Given the description of an element on the screen output the (x, y) to click on. 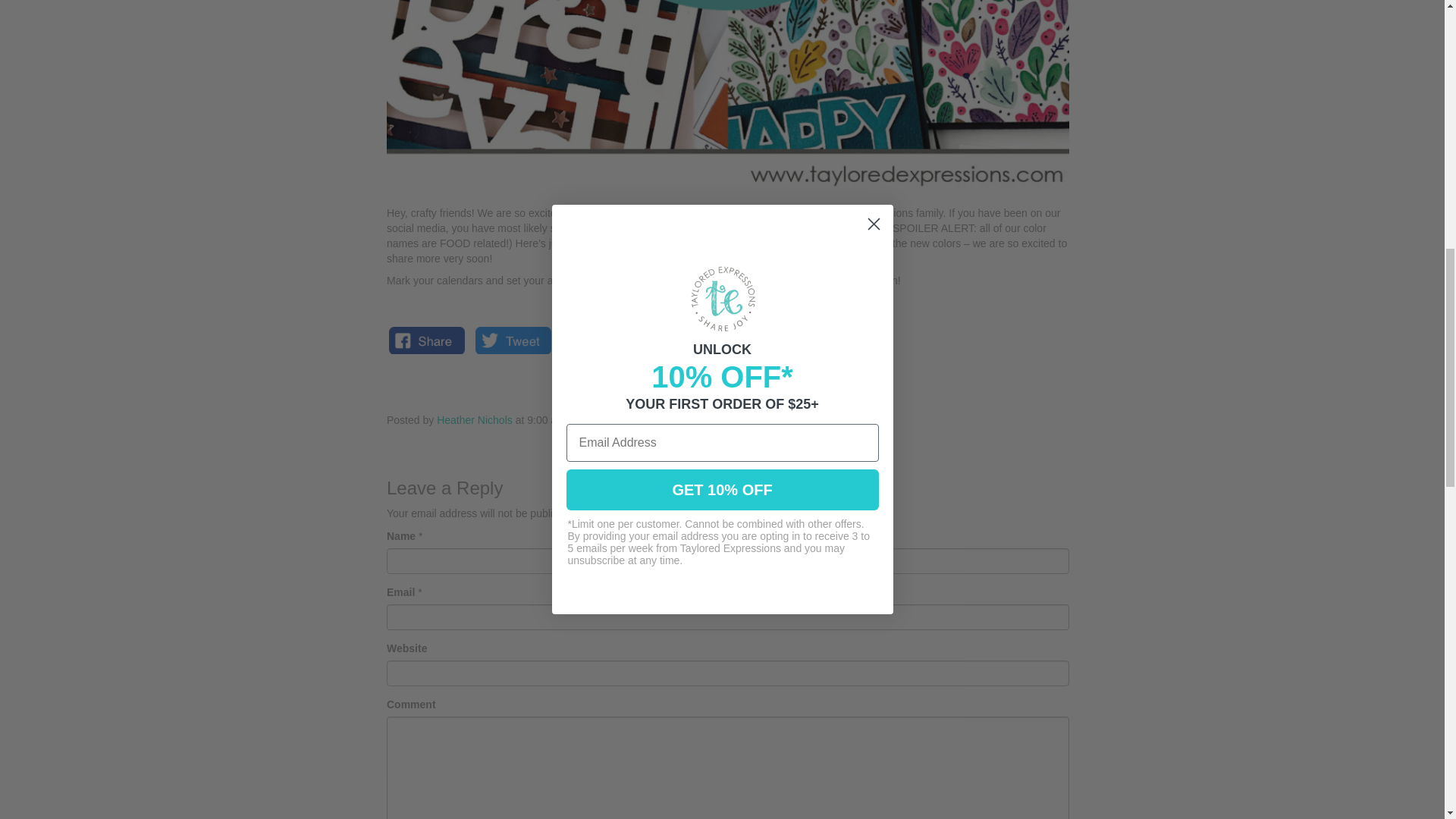
0 Comments (619, 419)
Posts by Heather Nichols (474, 419)
Link to this post (801, 419)
Add Comment (706, 419)
Heather Nichols (474, 419)
